Given the description of an element on the screen output the (x, y) to click on. 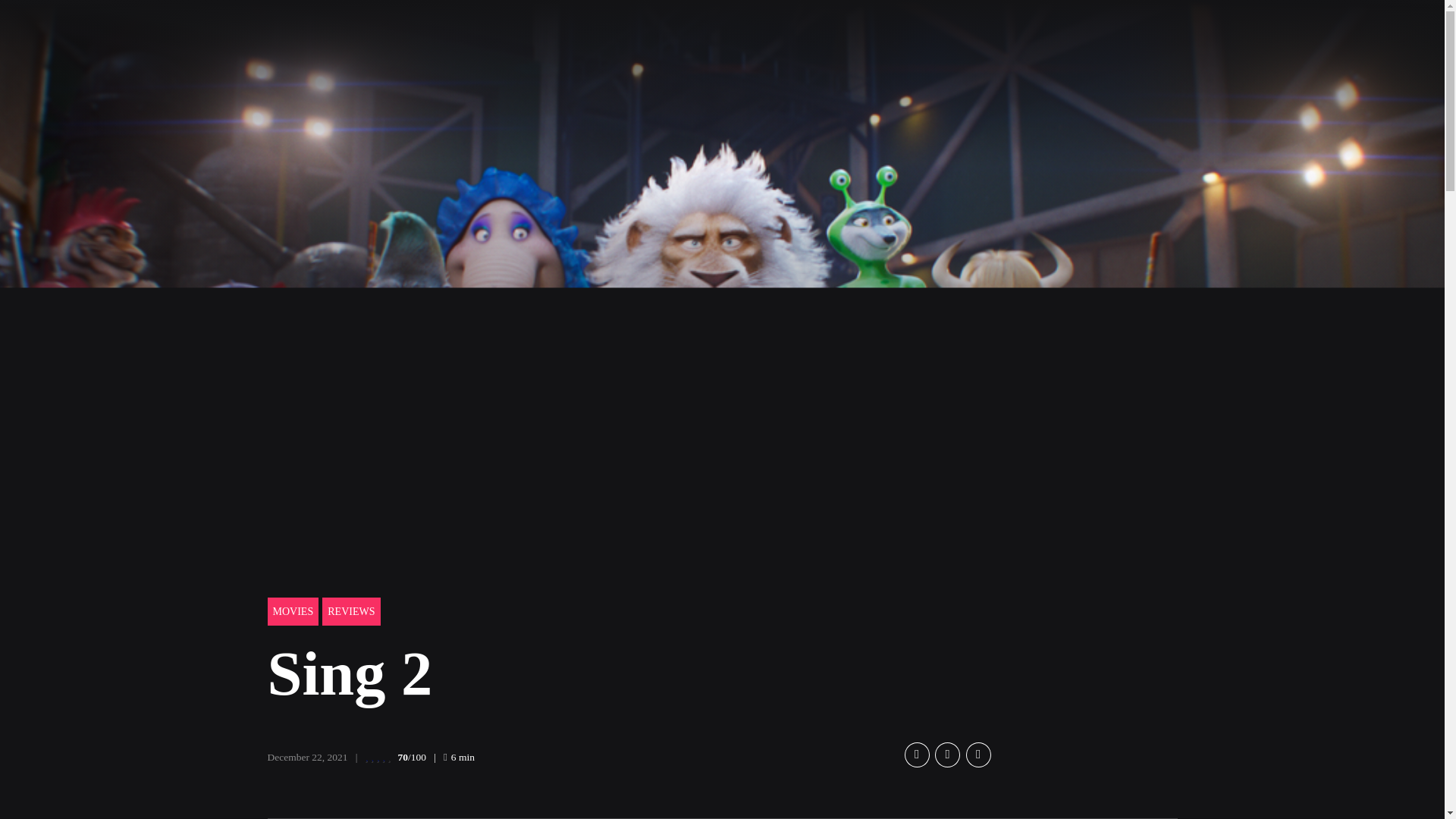
MOVIES (292, 611)
Share on VK (978, 754)
REVIEWS (350, 611)
Share on Facebook (916, 754)
Share on Twitter (946, 754)
